Given the description of an element on the screen output the (x, y) to click on. 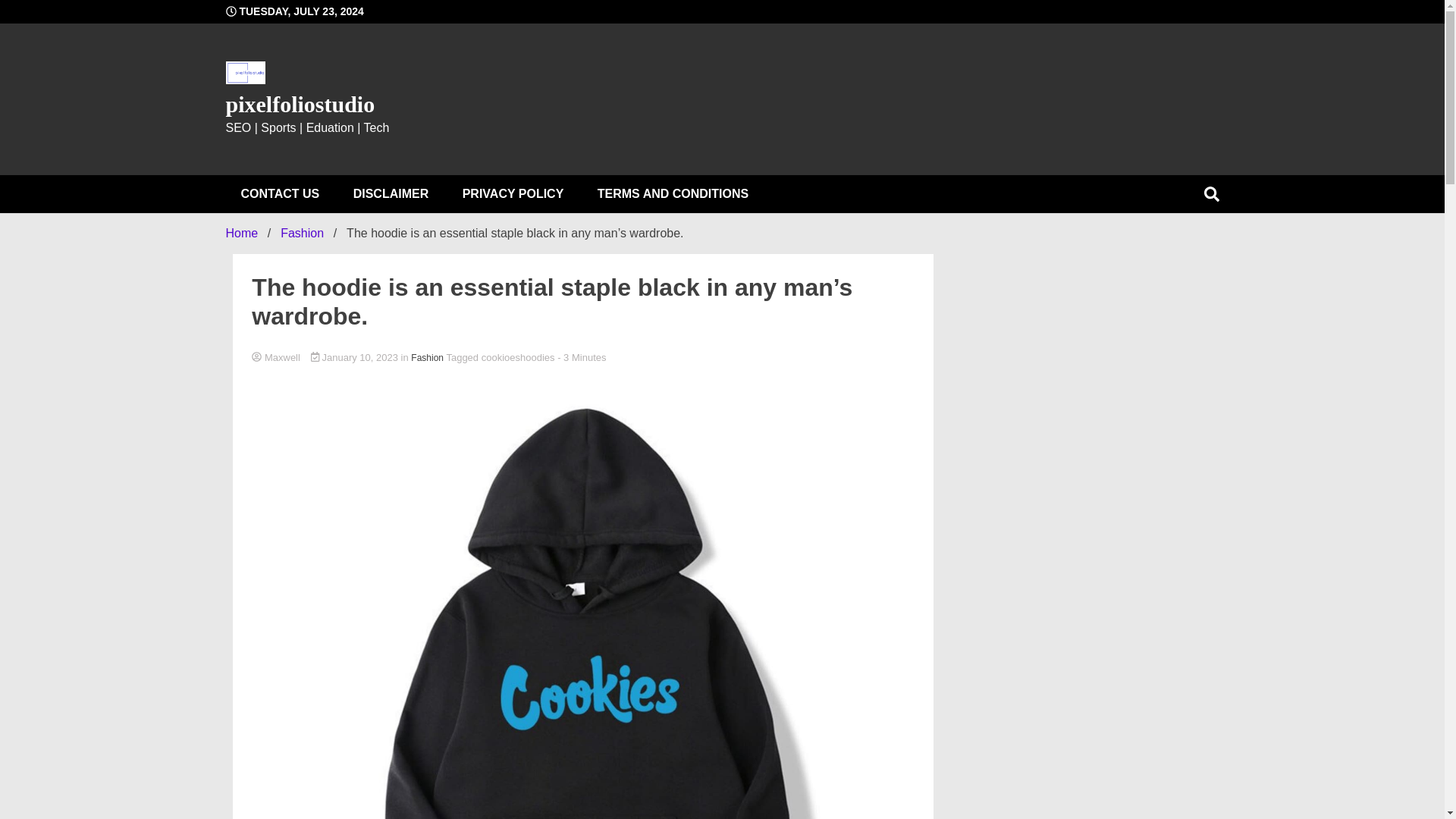
PRIVACY POLICY (512, 193)
Fashion (302, 232)
pixelfoliostudio (300, 104)
TERMS AND CONDITIONS (672, 193)
Maxwell (582, 358)
Home (242, 232)
DISCLAIMER (390, 193)
cookioeshoodies (517, 357)
Estimated Reading Time of Article (581, 357)
CONTACT US (279, 193)
Fashion (427, 357)
January 10, 2023 (356, 357)
